Given the description of an element on the screen output the (x, y) to click on. 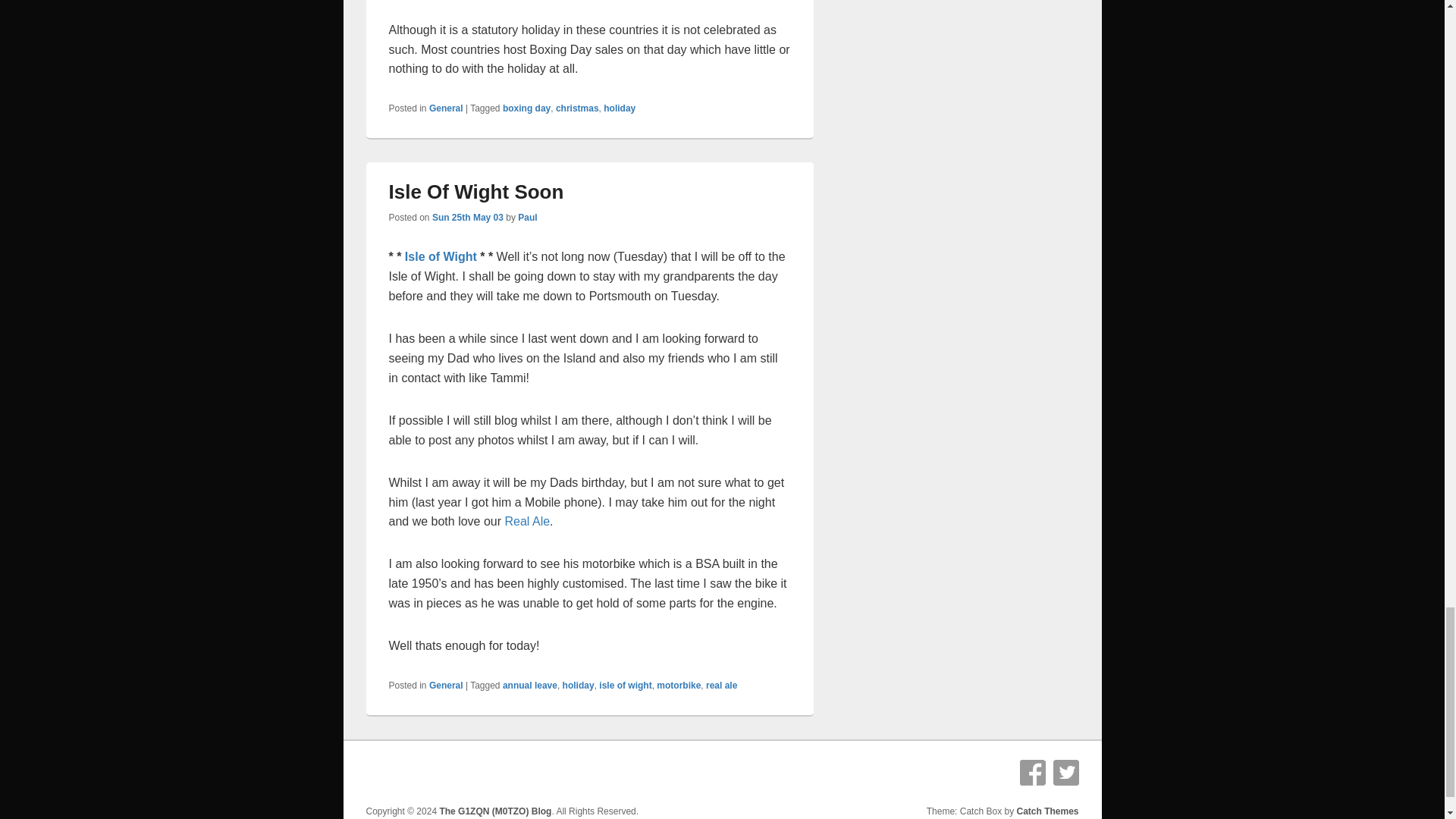
View all posts by Paul (527, 217)
Permalink to Isle Of Wight Soon (475, 191)
